Given the description of an element on the screen output the (x, y) to click on. 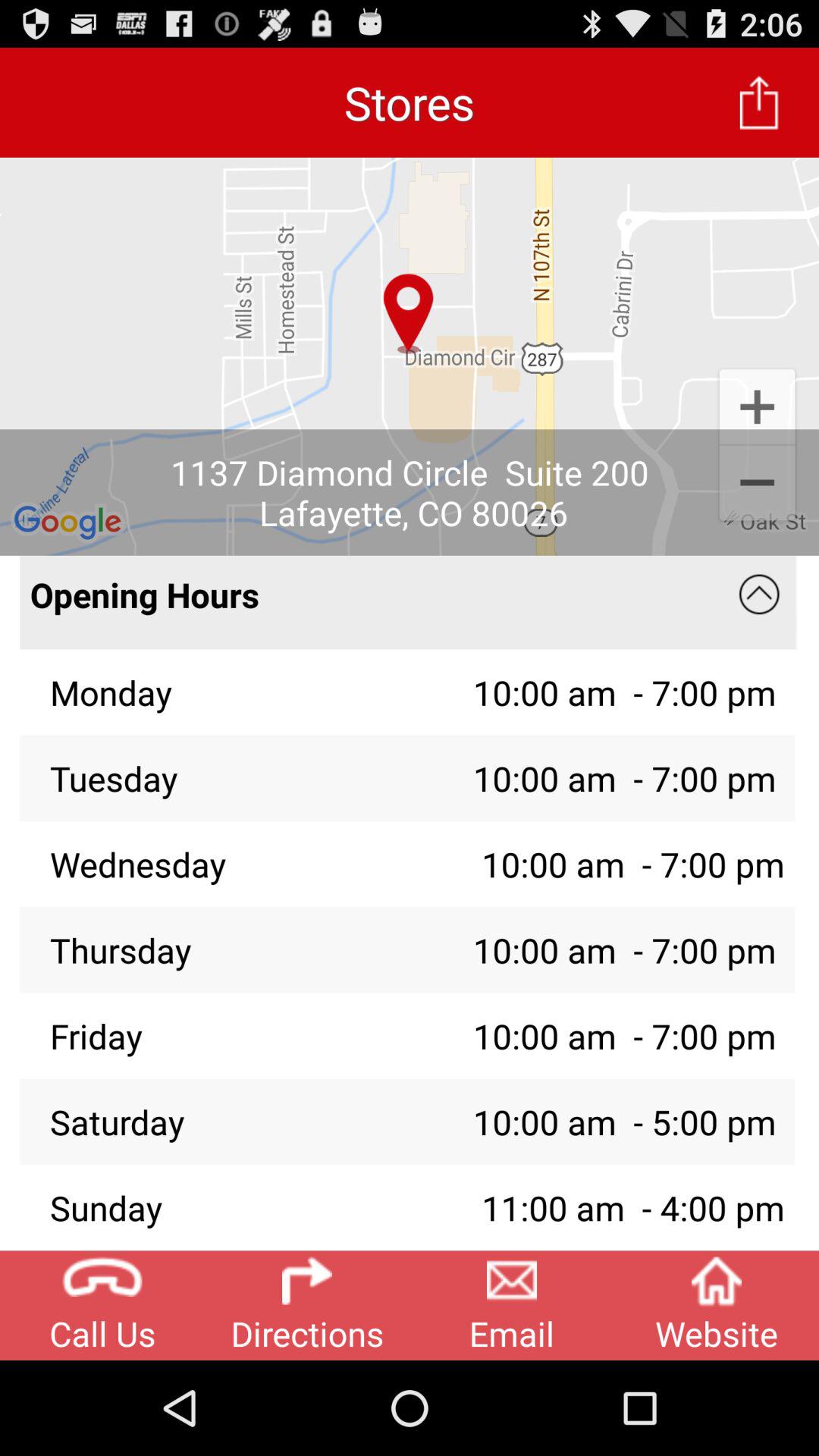
choose icon above 10 00 am icon (759, 594)
